Given the description of an element on the screen output the (x, y) to click on. 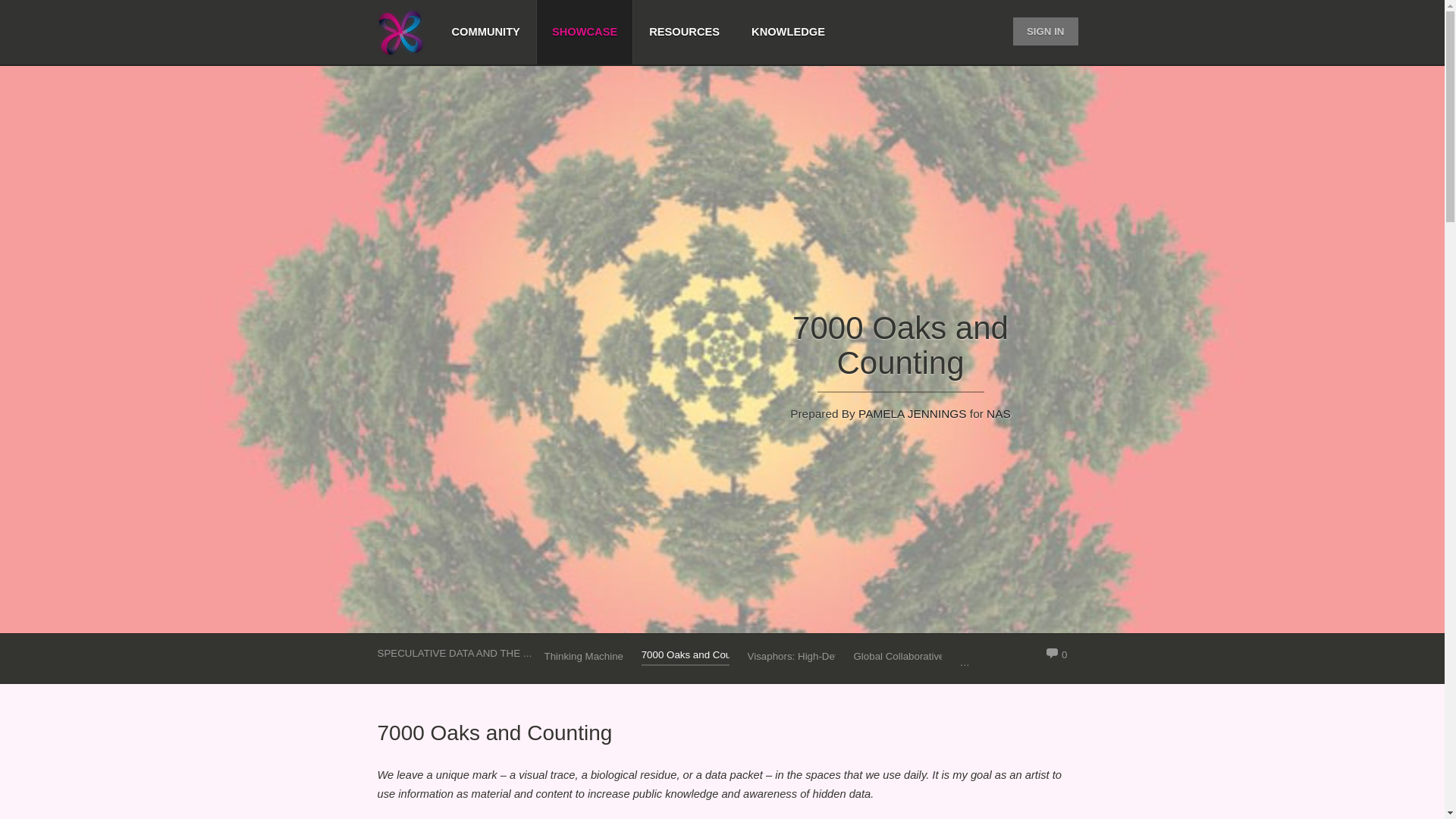
Thinking Machine (583, 656)
PAMELA JENNINGS (912, 413)
RESOURCES (684, 32)
COMMUNITY (485, 32)
7000 Oaks and Counting (685, 655)
KNOWLEDGE (788, 32)
Visaphors: High-Definition Stereo Visualizations (791, 656)
SHOWCASE (584, 32)
flowerGarden (989, 656)
Log in (1031, 166)
NAS (998, 413)
Global Collaborative Visual Mapping Archive II (896, 656)
SIGN IN (1045, 31)
